Given the description of an element on the screen output the (x, y) to click on. 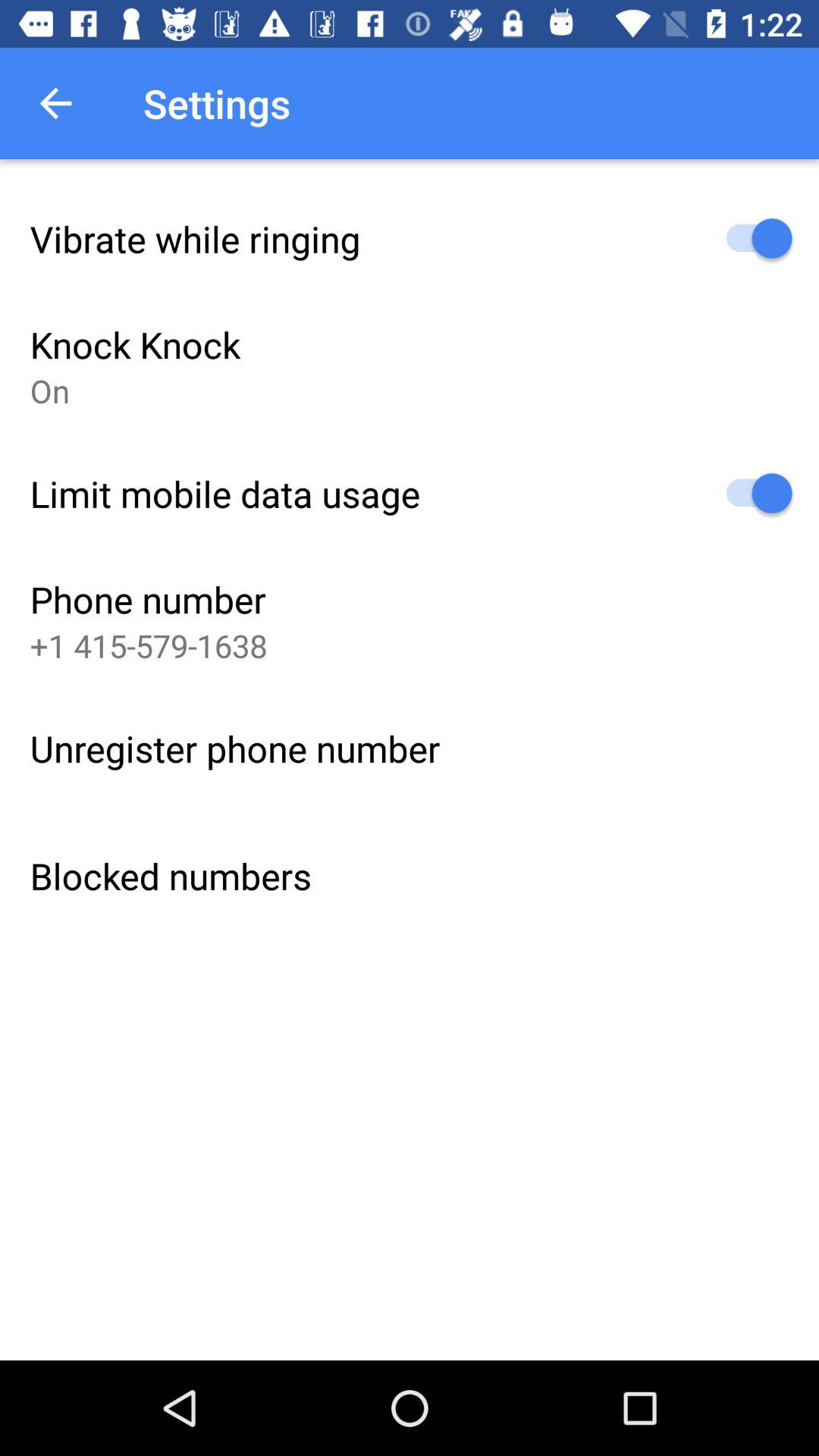
press on icon (49, 390)
